Given the description of an element on the screen output the (x, y) to click on. 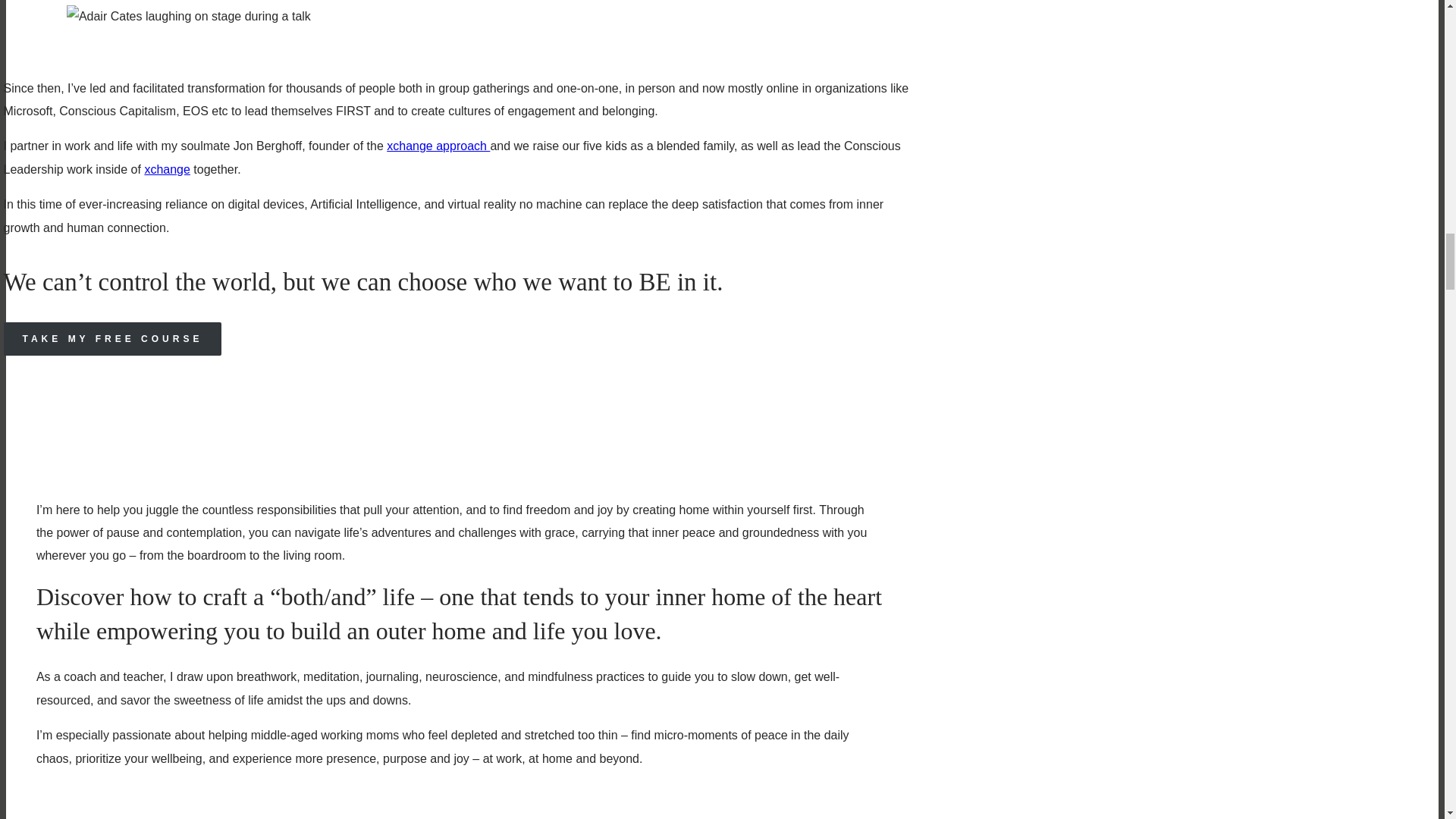
xchange approach (438, 145)
xchange (167, 169)
TAKE MY FREE COURSE (113, 338)
